Given the description of an element on the screen output the (x, y) to click on. 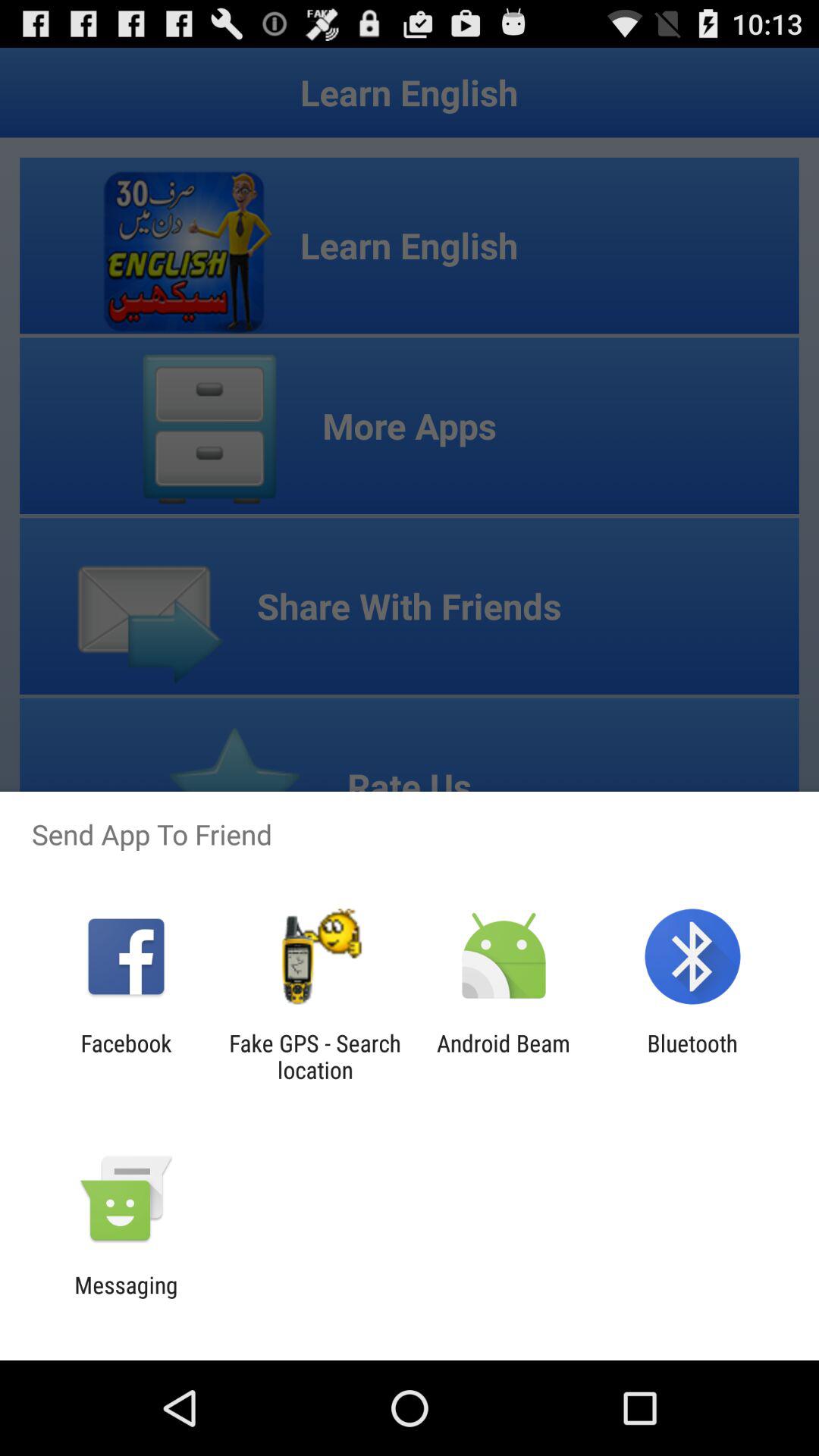
click the item next to the fake gps search icon (503, 1056)
